Given the description of an element on the screen output the (x, y) to click on. 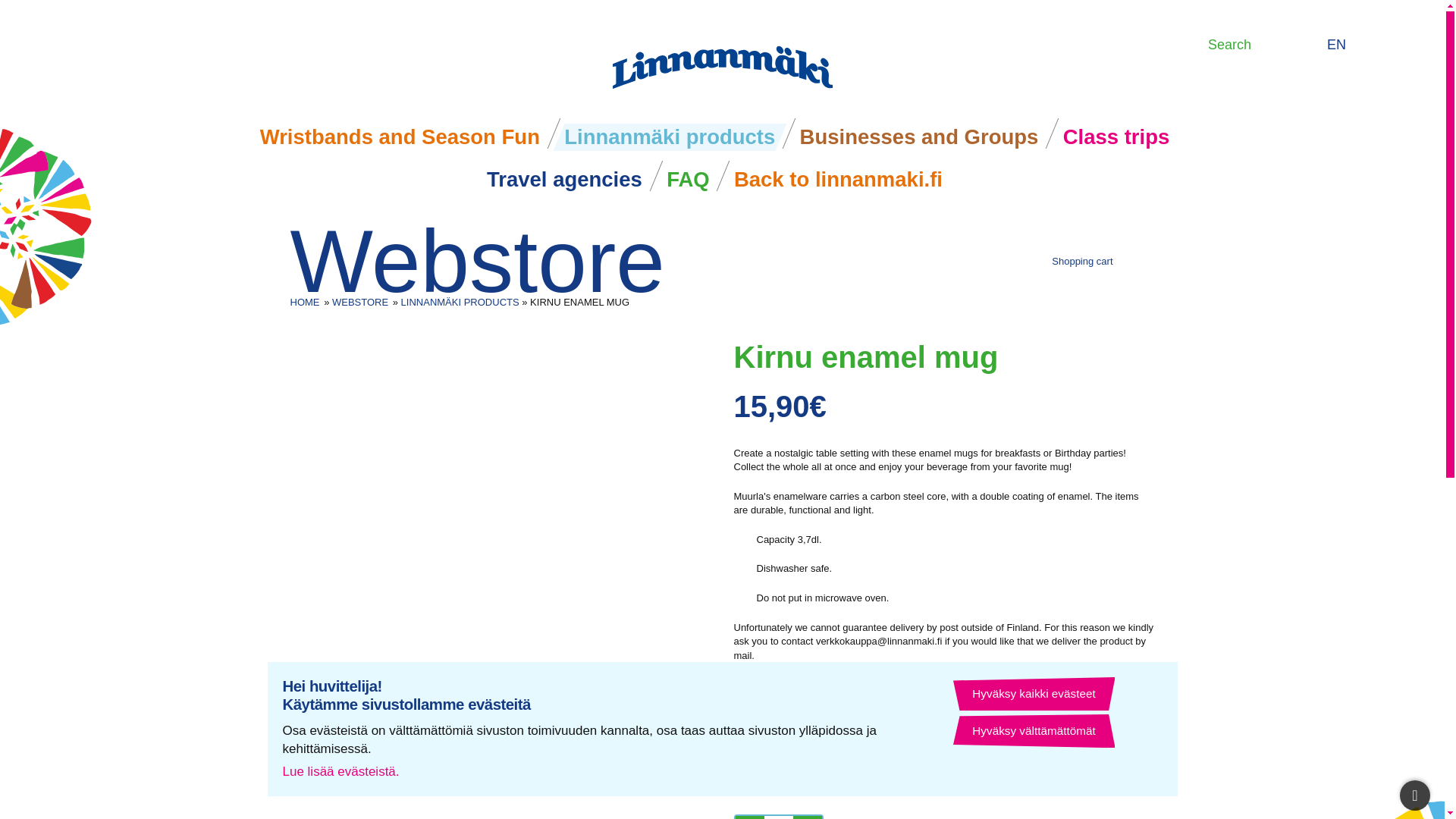
Children's Day Foundation (904, 785)
Travel agencies (564, 178)
FAQ (688, 178)
Back to linnanmaki.fi (837, 178)
Class trips (1116, 136)
WEBSTORE (1102, 261)
EN (359, 301)
1 (1362, 44)
HOME (778, 817)
Wristbands and Season Fun (303, 301)
Businesses and Groups (400, 136)
